Given the description of an element on the screen output the (x, y) to click on. 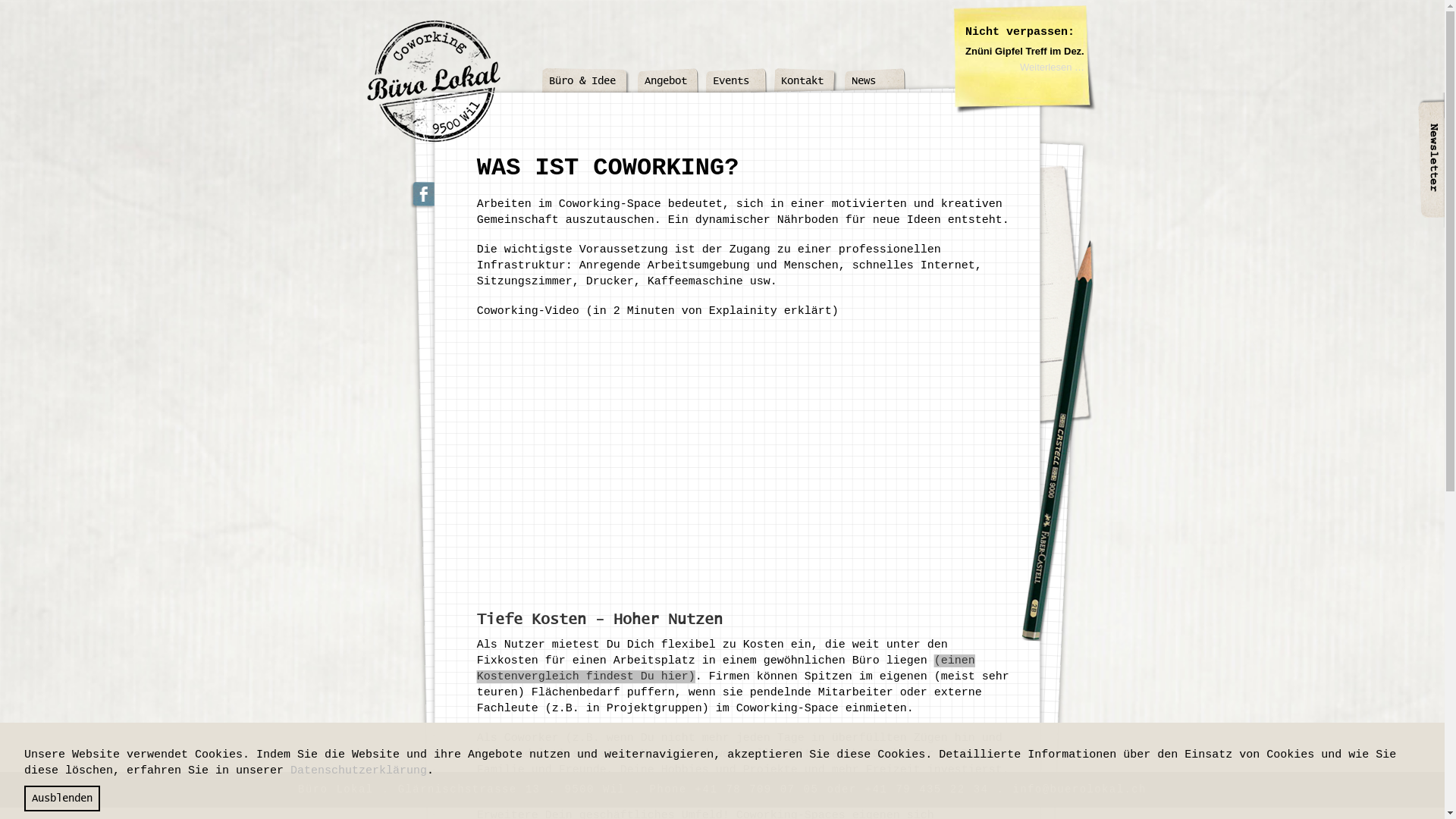
+41 79 435 22 34 Element type: text (926, 789)
info@buerolokal.ch Element type: text (1078, 789)
Angebot Element type: text (668, 83)
Events Element type: text (736, 83)
Kontakt Element type: text (805, 83)
+41 78 709 07 05 Element type: text (756, 789)
Zu unserer facebook-Seite Element type: text (421, 195)
  Element type: text (540, 91)
(einen Kostenvergleich findest Du hier) Element type: text (725, 668)
News Element type: text (875, 83)
Ausblenden Element type: text (62, 798)
